Given the description of an element on the screen output the (x, y) to click on. 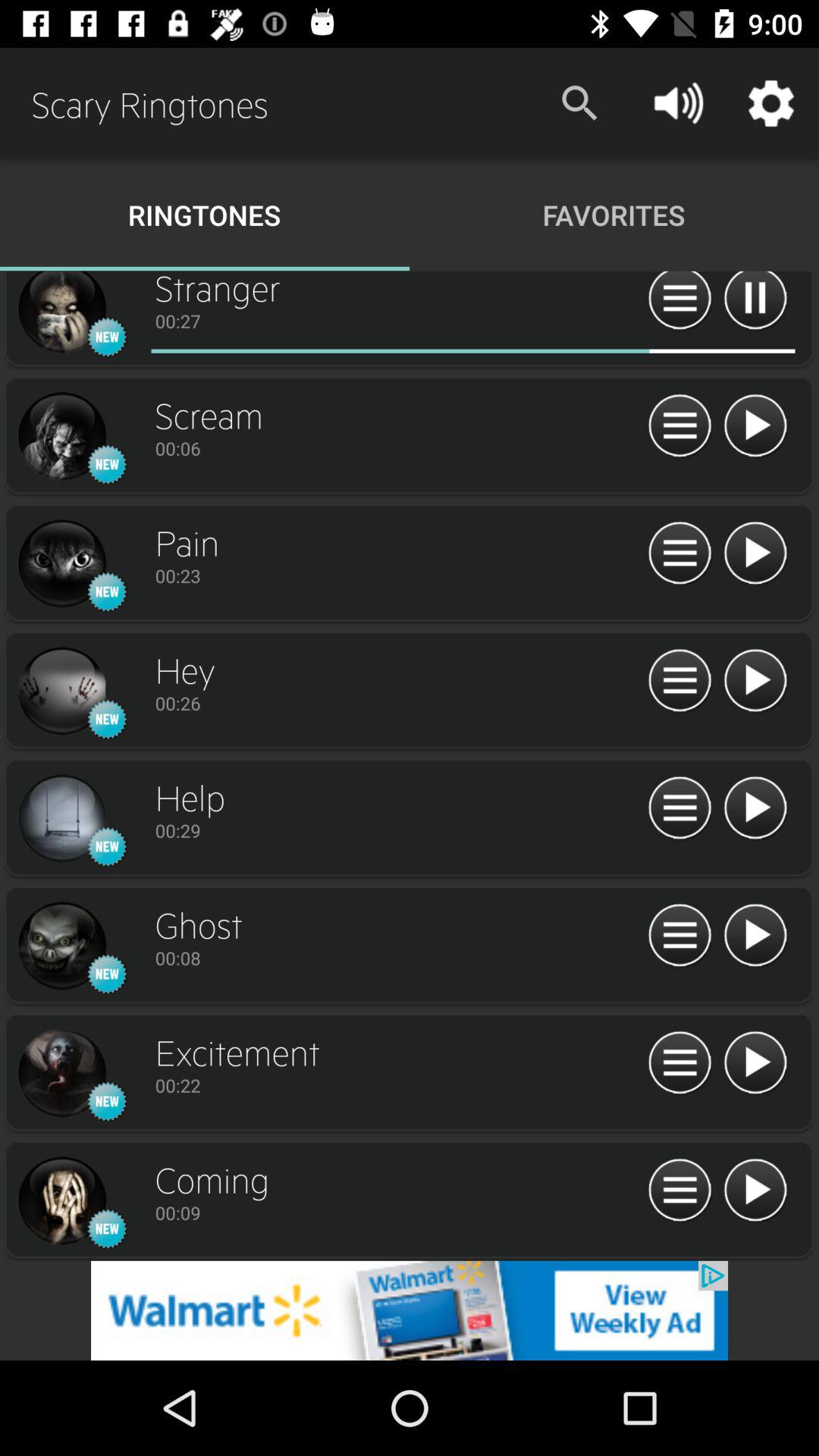
picture (61, 563)
